Given the description of an element on the screen output the (x, y) to click on. 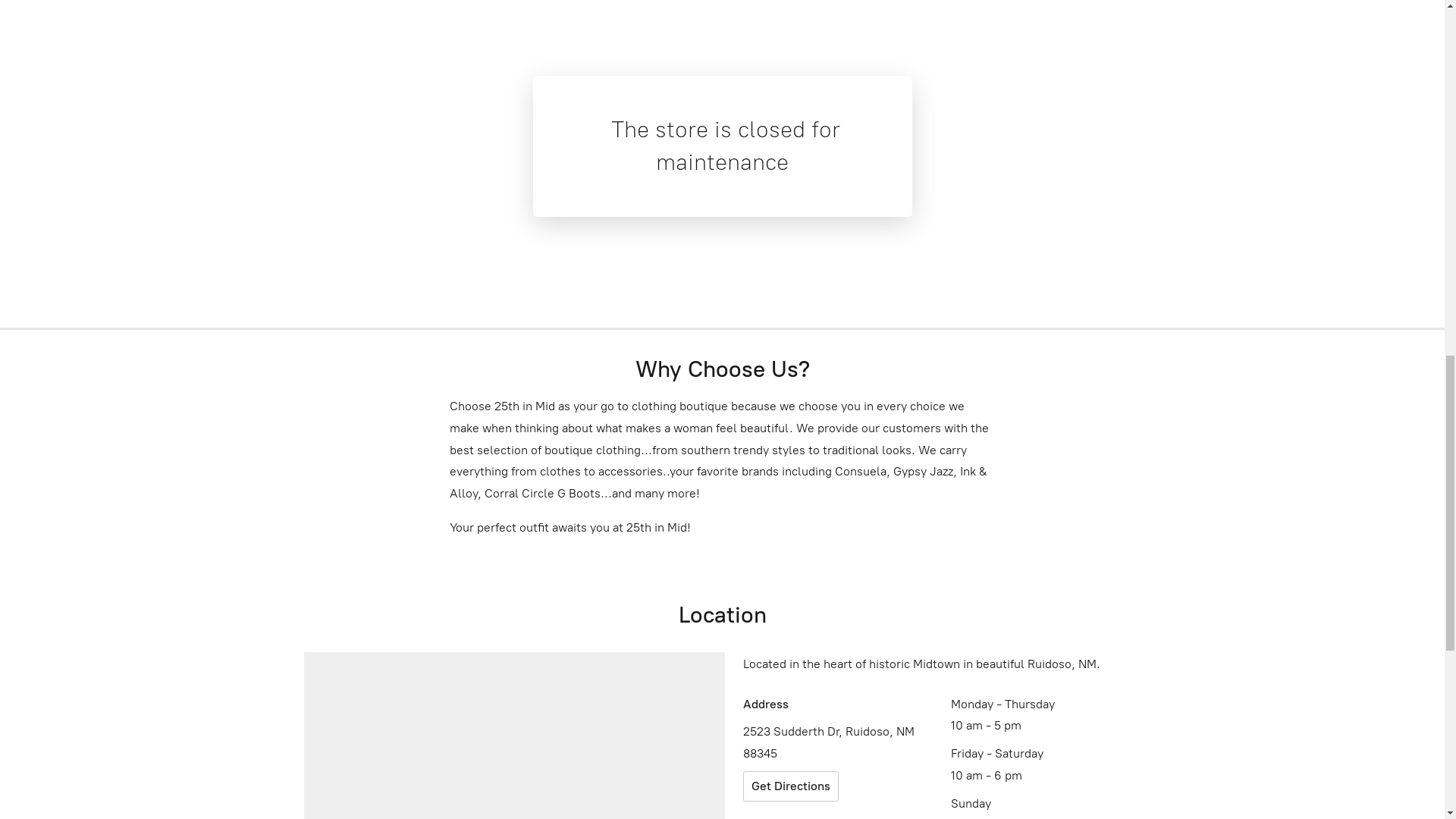
Store Element type: text (45, 26)
Location Element type: text (111, 26)
Shop Now Element type: text (520, 495)
Contact us Element type: text (193, 26)
